Given the description of an element on the screen output the (x, y) to click on. 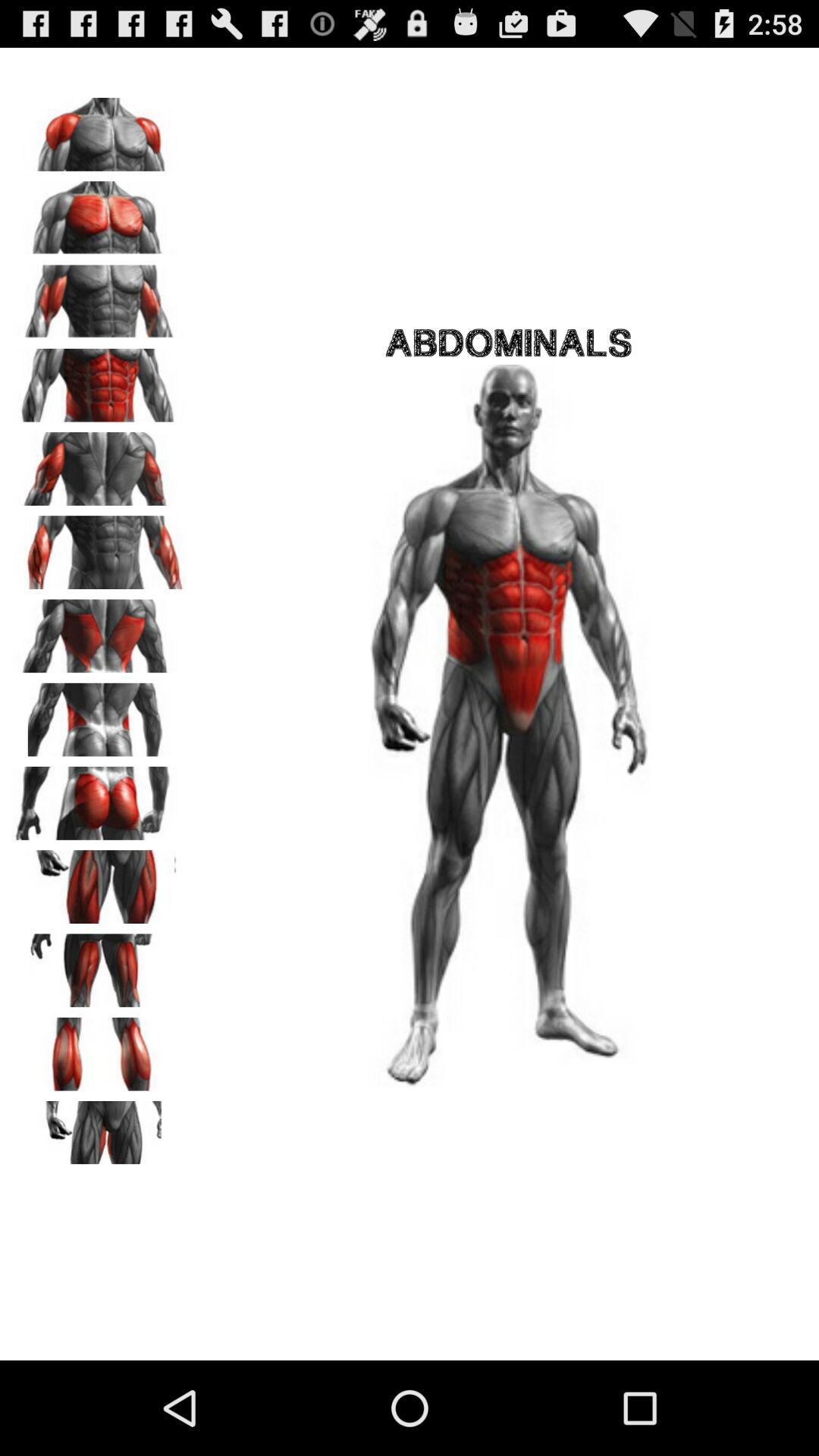
posterior view (99, 798)
